Given the description of an element on the screen output the (x, y) to click on. 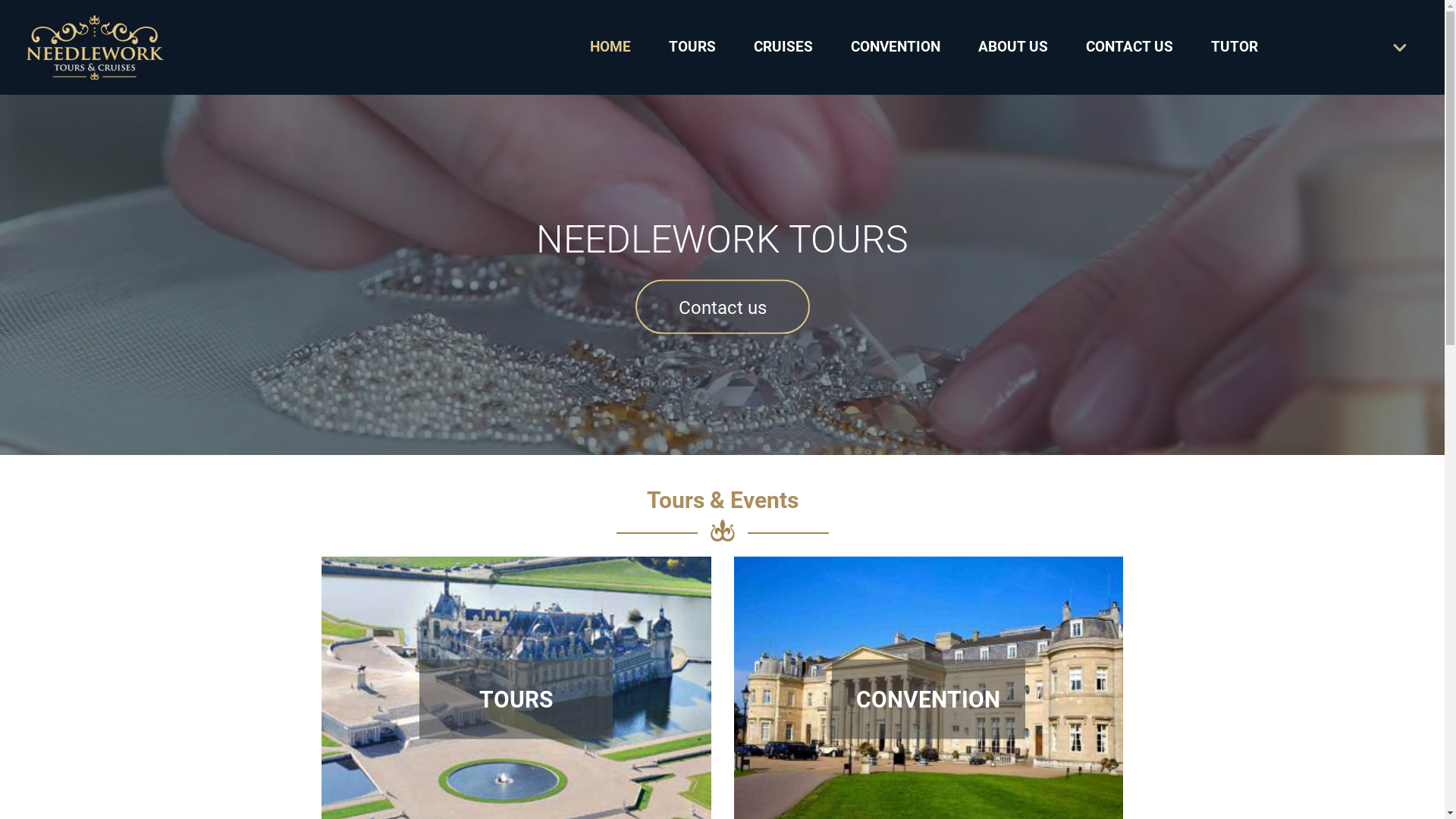
CRUISES Element type: text (782, 47)
ABOUT US Element type: text (1013, 47)
Contact us Element type: text (722, 306)
TOURS Element type: text (691, 47)
TUTOR Element type: text (1234, 47)
CONTACT US Element type: text (1129, 47)
HOME Element type: text (609, 47)
CONVENTION Element type: text (895, 47)
